Given the description of an element on the screen output the (x, y) to click on. 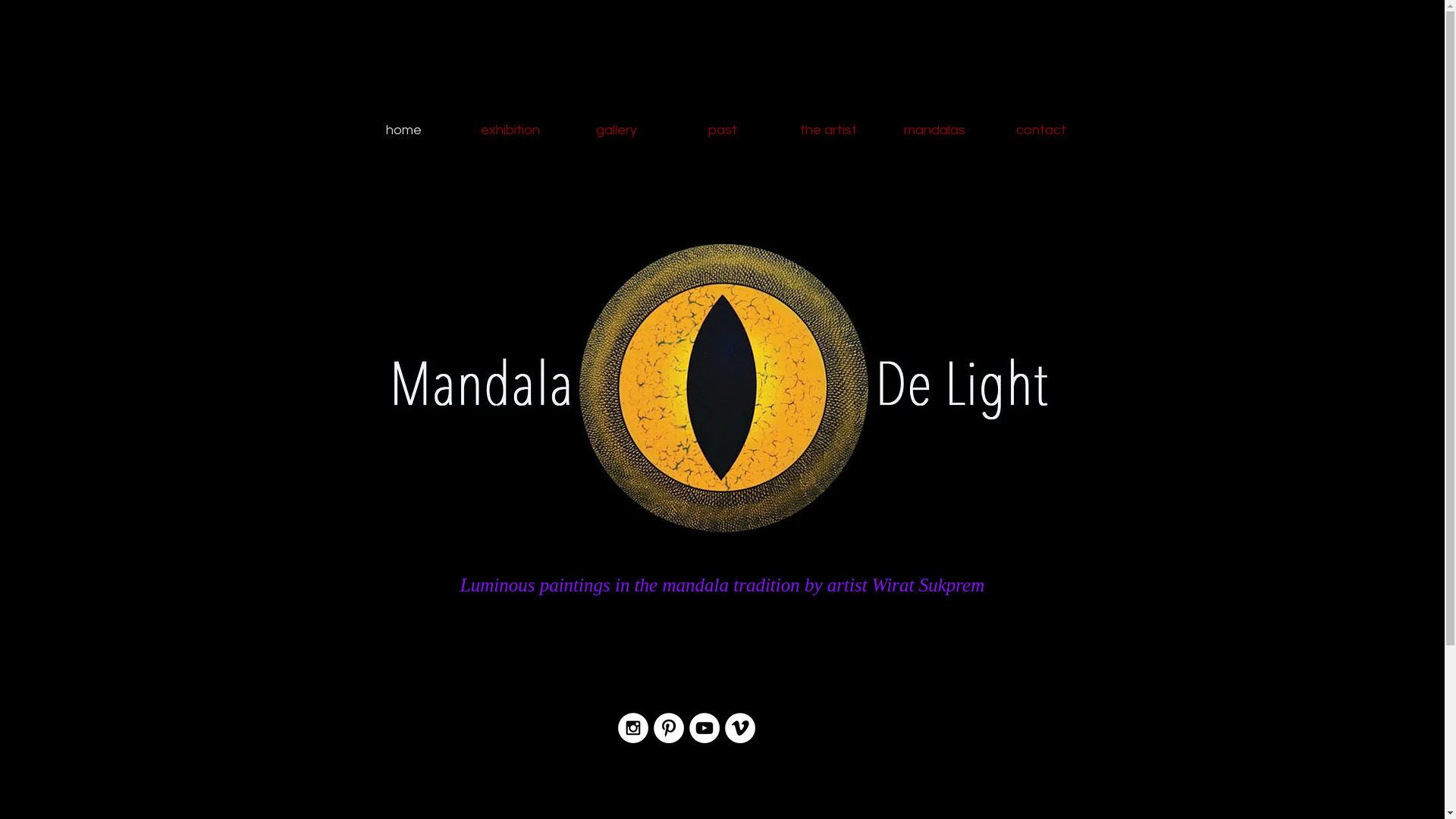
the artist Element type: text (828, 130)
contact Element type: text (1040, 130)
home Element type: text (403, 130)
past Element type: text (721, 130)
mandalas Element type: text (934, 130)
gallery Element type: text (615, 130)
MLD New Logo.jpg Element type: hover (721, 383)
exhibition Element type: text (509, 130)
